Given the description of an element on the screen output the (x, y) to click on. 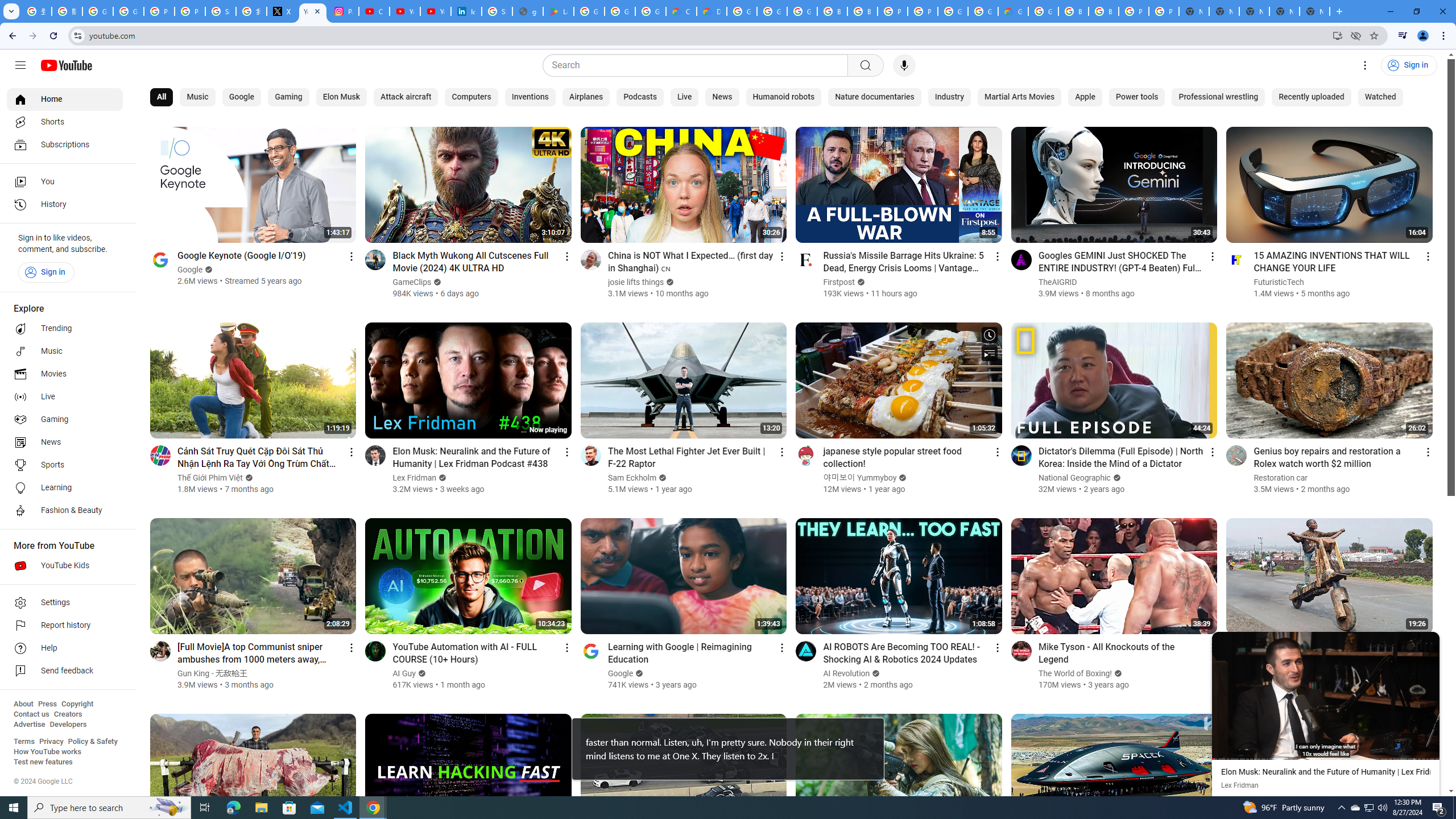
Power tools (1136, 97)
Google Cloud Platform (952, 11)
Install YouTube (1336, 35)
History (64, 204)
Verified (1286, 660)
Creators (67, 714)
All (161, 97)
News (721, 97)
Industry (949, 97)
Action menu (1427, 647)
